Given the description of an element on the screen output the (x, y) to click on. 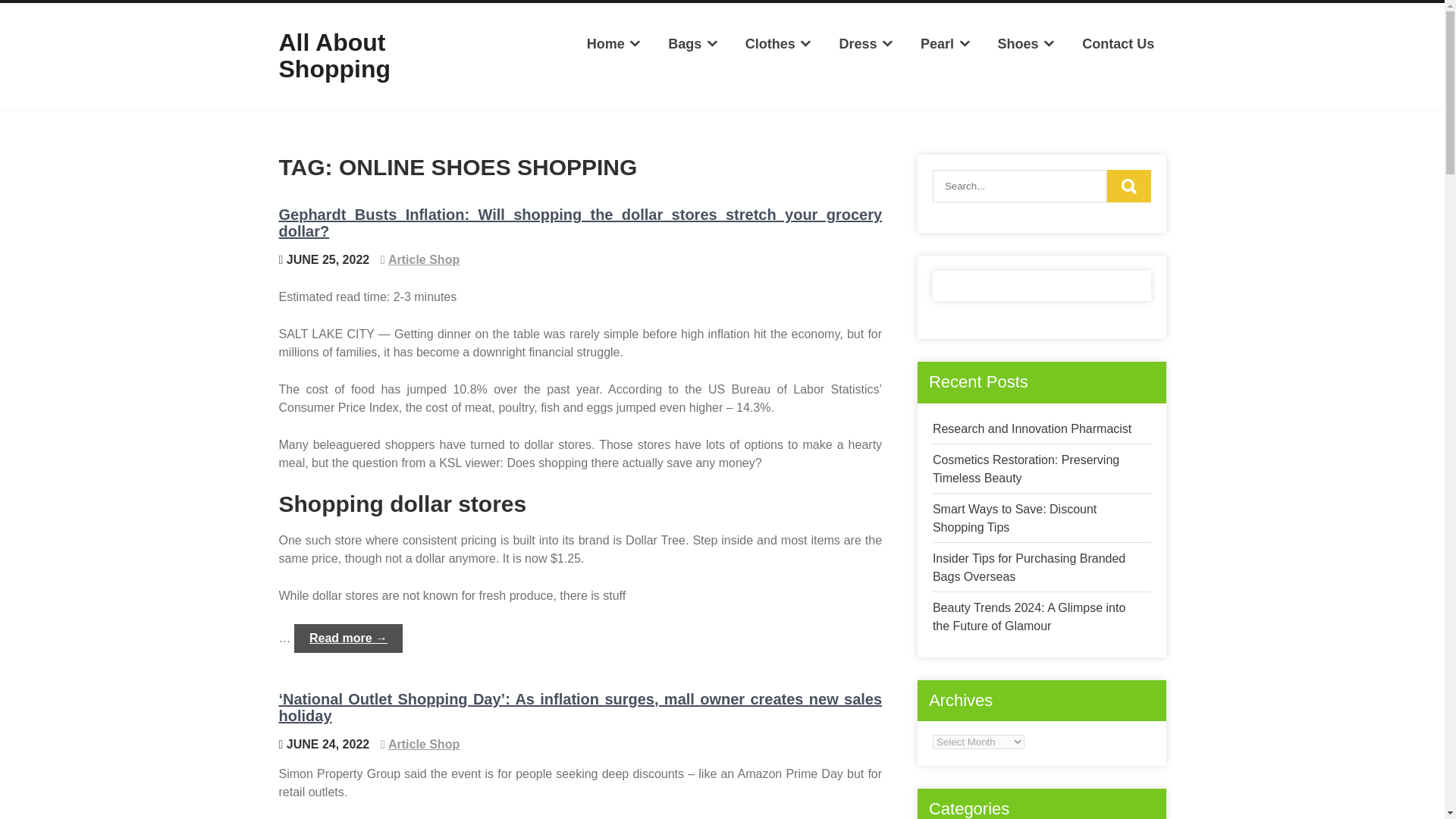
All About Shopping (335, 55)
Dress (866, 44)
Search (1128, 185)
Pearl (945, 44)
Home (613, 44)
Shoes (1026, 44)
Clothes (778, 44)
Article Shop (424, 259)
Contact Us (1118, 44)
